Given the description of an element on the screen output the (x, y) to click on. 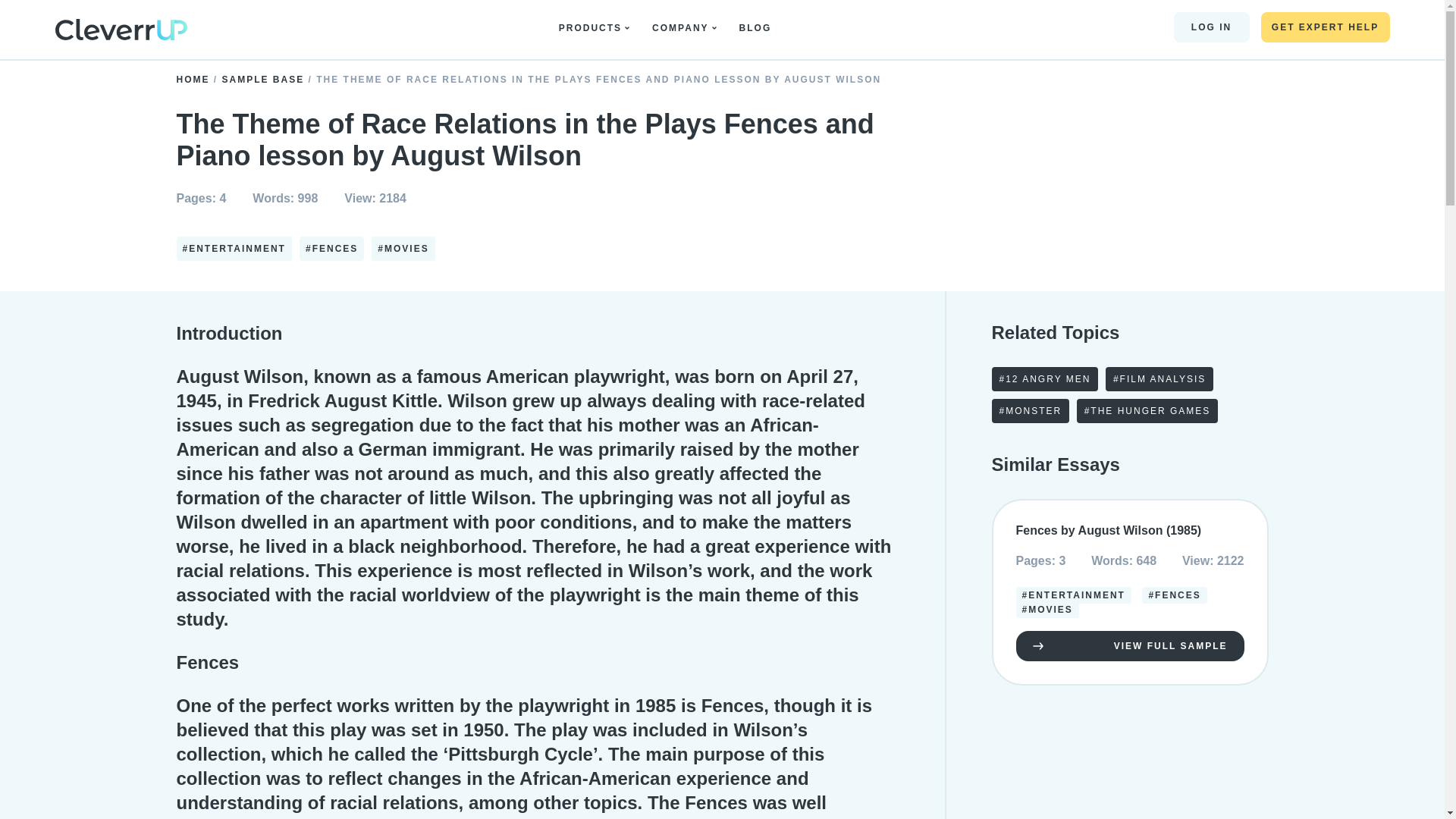
HOME (194, 79)
COMPANY (684, 27)
PRODUCTS (593, 27)
BLOG (758, 27)
GET EXPERT HELP (1324, 27)
Home (120, 32)
SAMPLE BASE (265, 79)
LOG IN (1211, 27)
logo (120, 29)
